Given the description of an element on the screen output the (x, y) to click on. 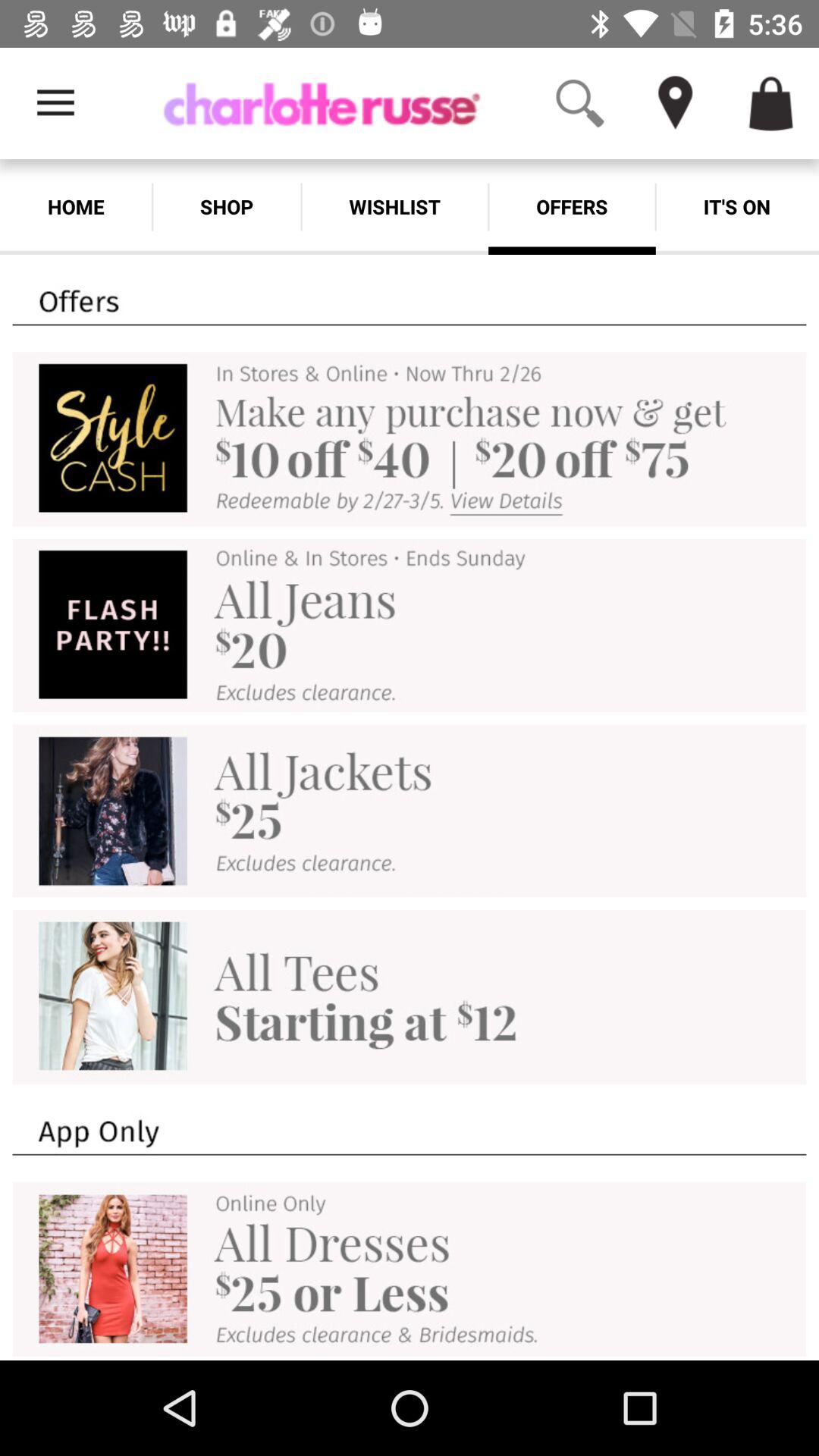
click the icon above the it's on (797, 66)
